Given the description of an element on the screen output the (x, y) to click on. 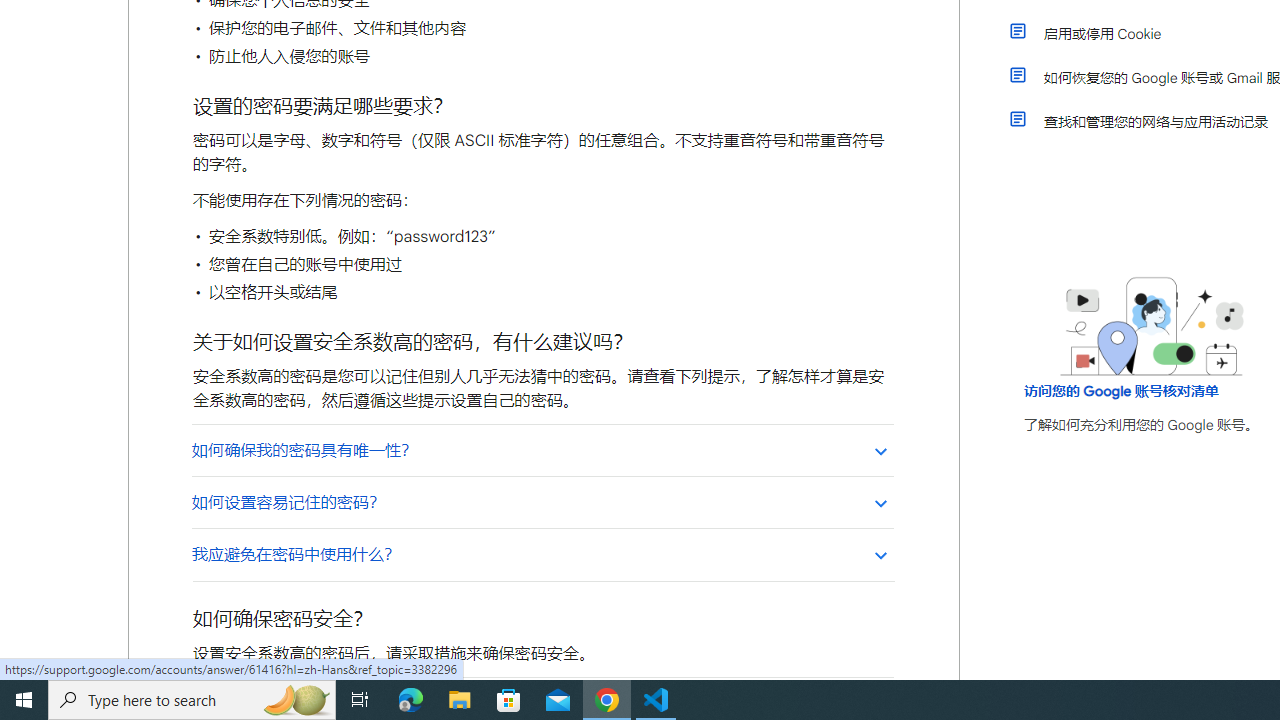
Learning Center home page image (1152, 326)
